Given the description of an element on the screen output the (x, y) to click on. 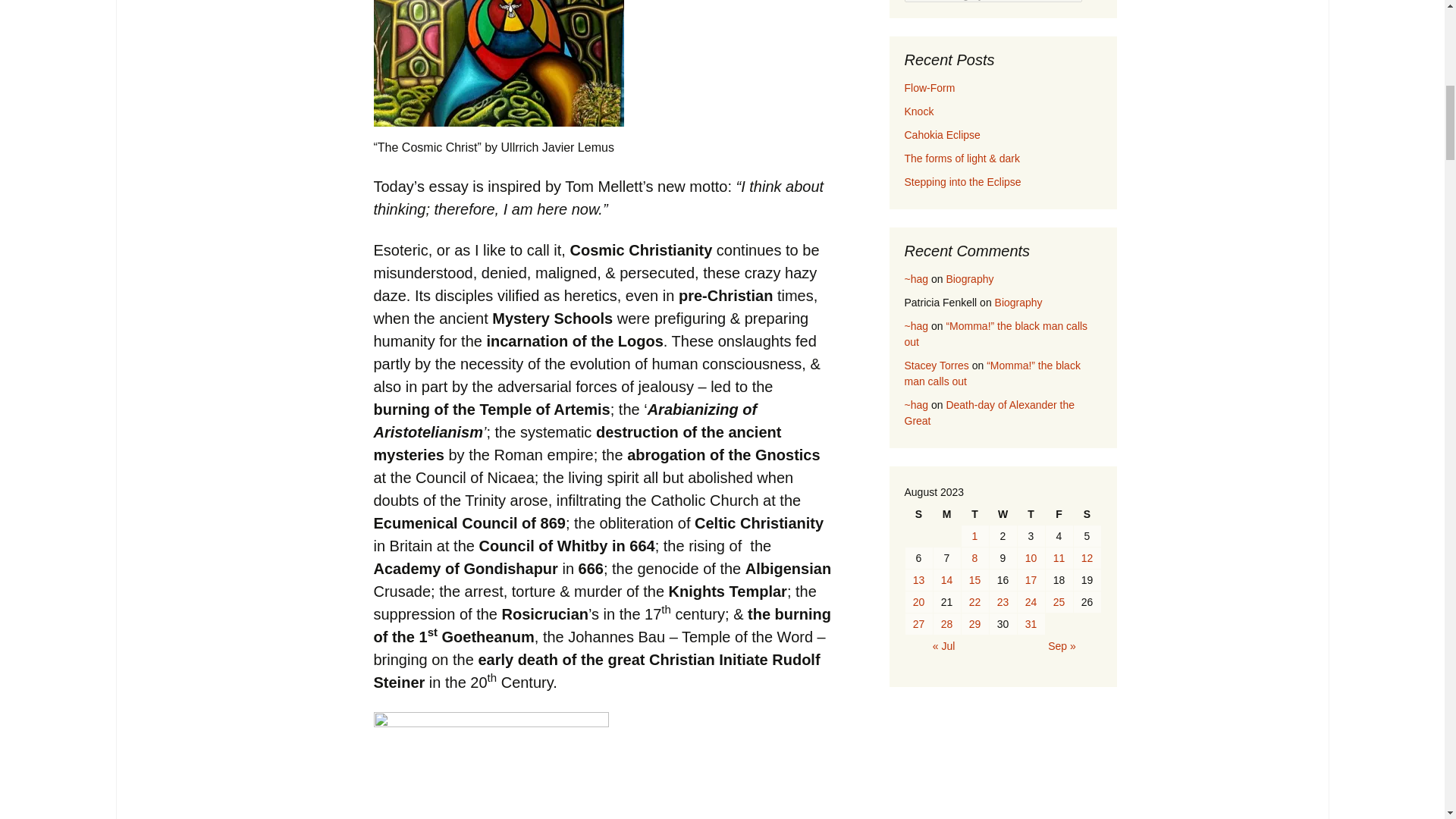
Friday (1058, 513)
Sunday (919, 513)
Thursday (1031, 513)
Wednesday (1002, 513)
Tuesday (974, 513)
Saturday (1087, 513)
Monday (946, 513)
